Given the description of an element on the screen output the (x, y) to click on. 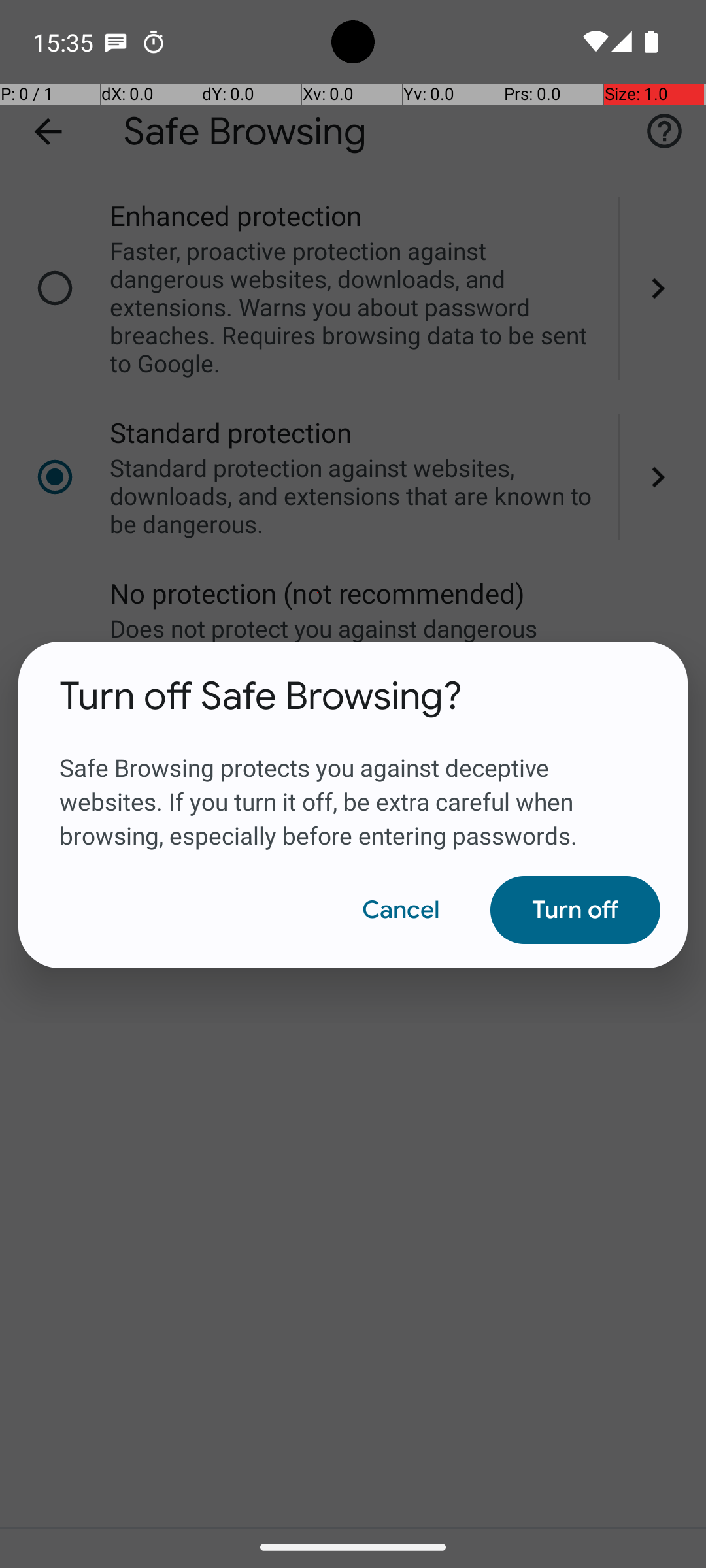
Turn off Safe Browsing? Element type: android.widget.TextView (260, 695)
Safe Browsing protects you against deceptive websites. If you turn it off, be extra careful when browsing, especially before entering passwords. Element type: android.widget.TextView (352, 785)
